Given the description of an element on the screen output the (x, y) to click on. 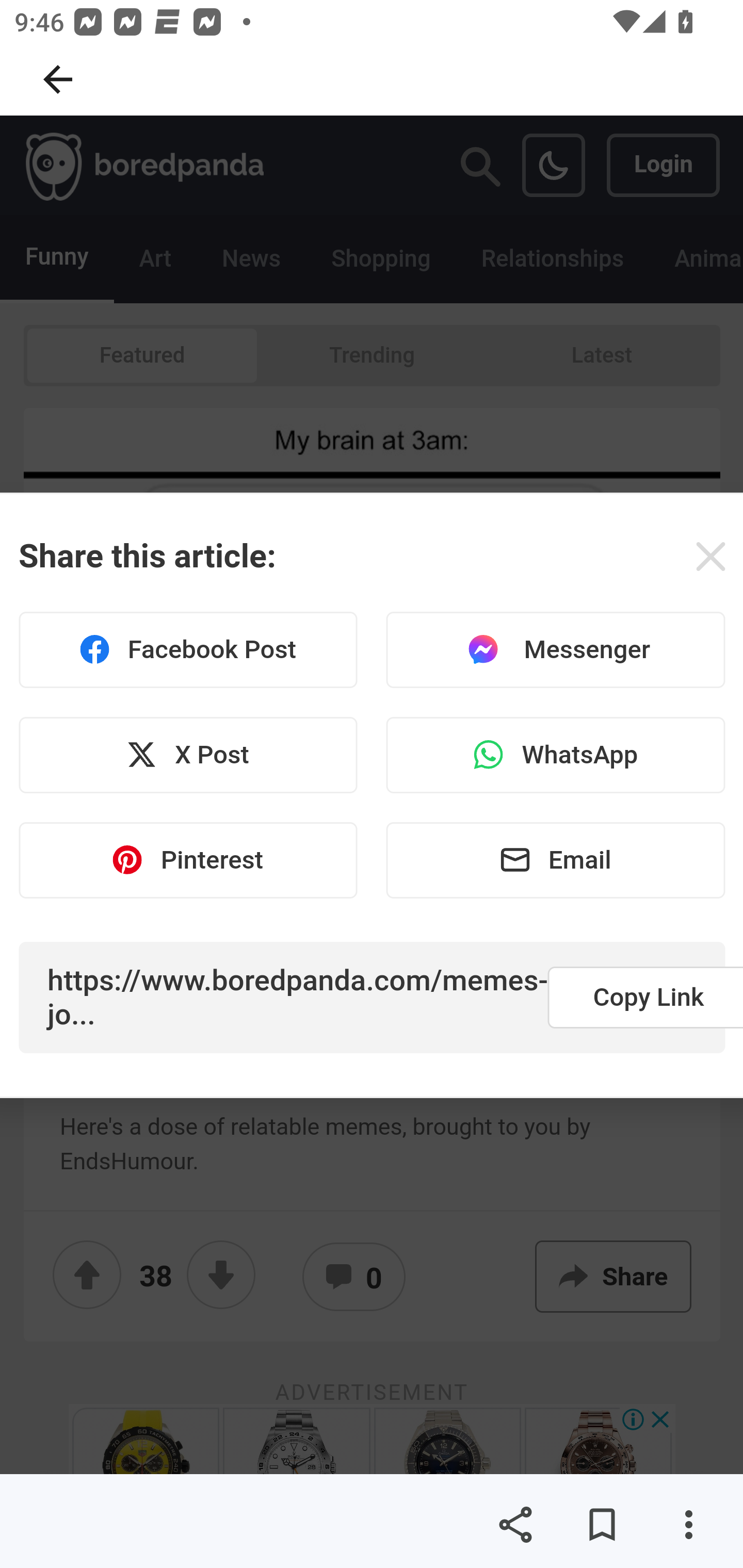
Navigate up (57, 79)
Dialog close (709, 555)
Facebook Facebook Post Facebook Facebook Post (187, 649)
Twitter x X Post Twitter x X Post (187, 754)
Whatsapp WhatsApp Whatsapp WhatsApp (554, 754)
Mail share Email Mail share Email (554, 859)
Copy Link (644, 996)
Share (514, 1524)
Save for later (601, 1524)
More options (688, 1524)
